Given the description of an element on the screen output the (x, y) to click on. 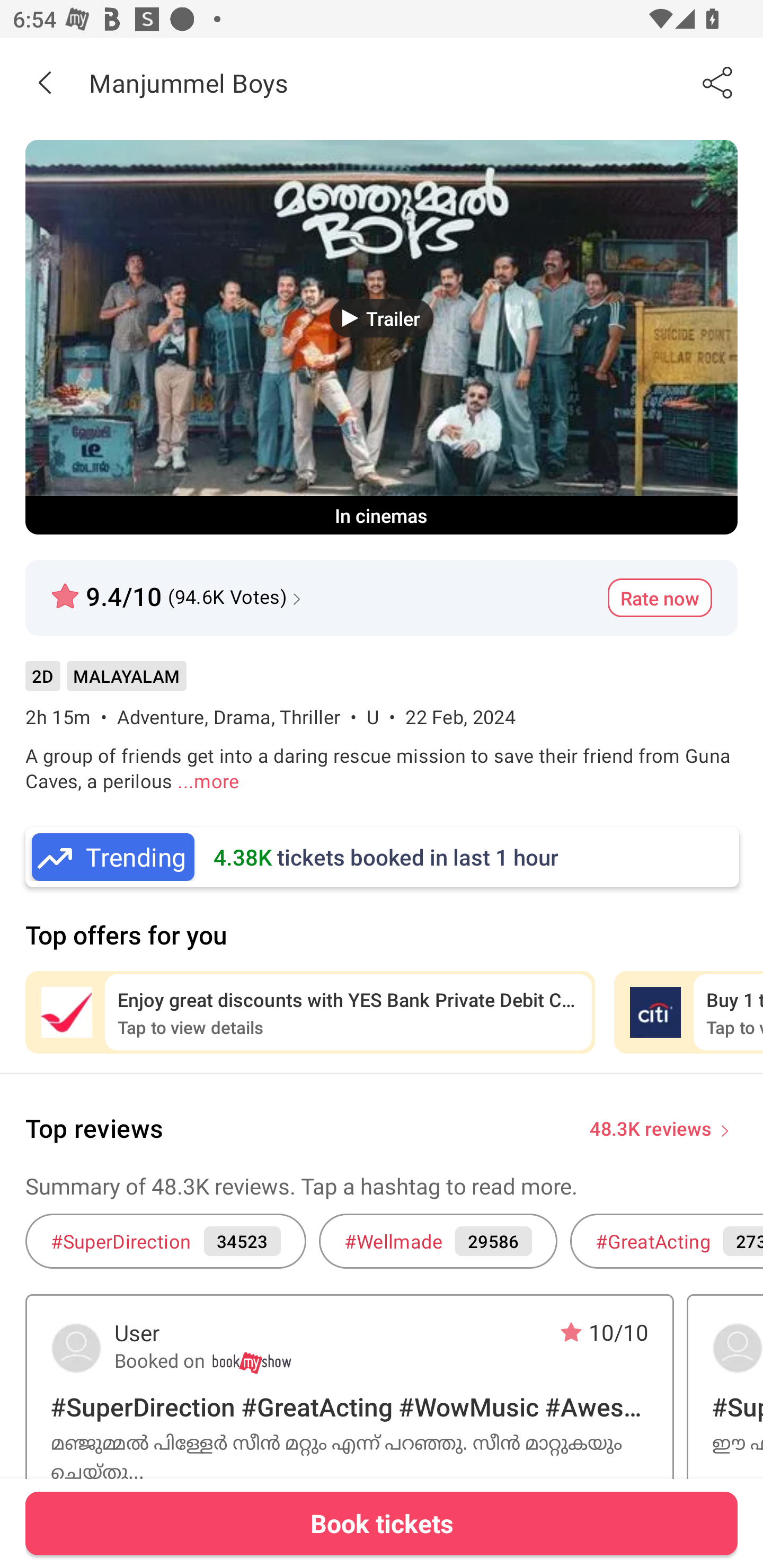
Back (44, 82)
Share (718, 82)
Movie Banner Trailer In cinemas (381, 336)
Trailer (381, 318)
9.4/10 (94.6K Votes) (178, 589)
Rate now (659, 597)
2D MALAYALAM (105, 682)
48.3K reviews (650, 1127)
#SuperDirection 34523 (165, 1240)
#Wellmade 29586 (437, 1240)
#GreatActing 27306 (666, 1240)
Book tickets (381, 1523)
